Given the description of an element on the screen output the (x, y) to click on. 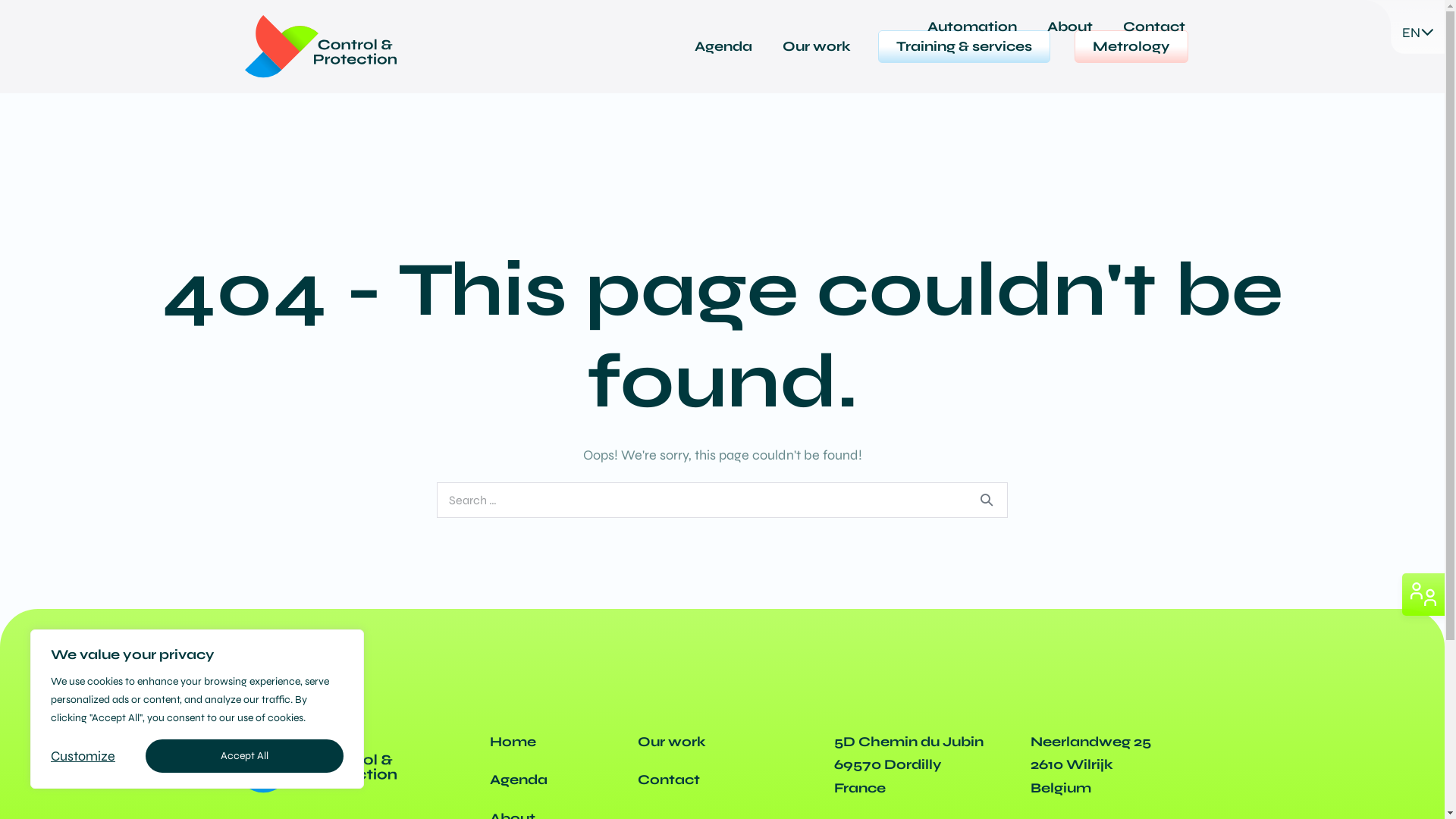
Accept All Element type: text (244, 755)
EN Element type: text (1404, 32)
Contact Element type: text (1153, 26)
Automation Element type: text (971, 26)
Our work Element type: text (671, 741)
Press enter to search Element type: hover (721, 499)
Neerlandweg 25
2610 Wilrijk
Belgium Element type: text (1089, 764)
Metrology Element type: text (1130, 46)
Home Element type: text (512, 741)
Search Element type: text (986, 499)
Contact Element type: text (668, 779)
Customize Element type: text (82, 755)
Agenda Element type: text (518, 779)
Agenda Element type: text (723, 46)
About Element type: text (1069, 26)
Control & Protection Element type: hover (319, 46)
5D Chemin du Jubin
69570 Dordilly
France Element type: text (908, 764)
Our work Element type: text (816, 46)
Training & services Element type: text (964, 46)
